Given the description of an element on the screen output the (x, y) to click on. 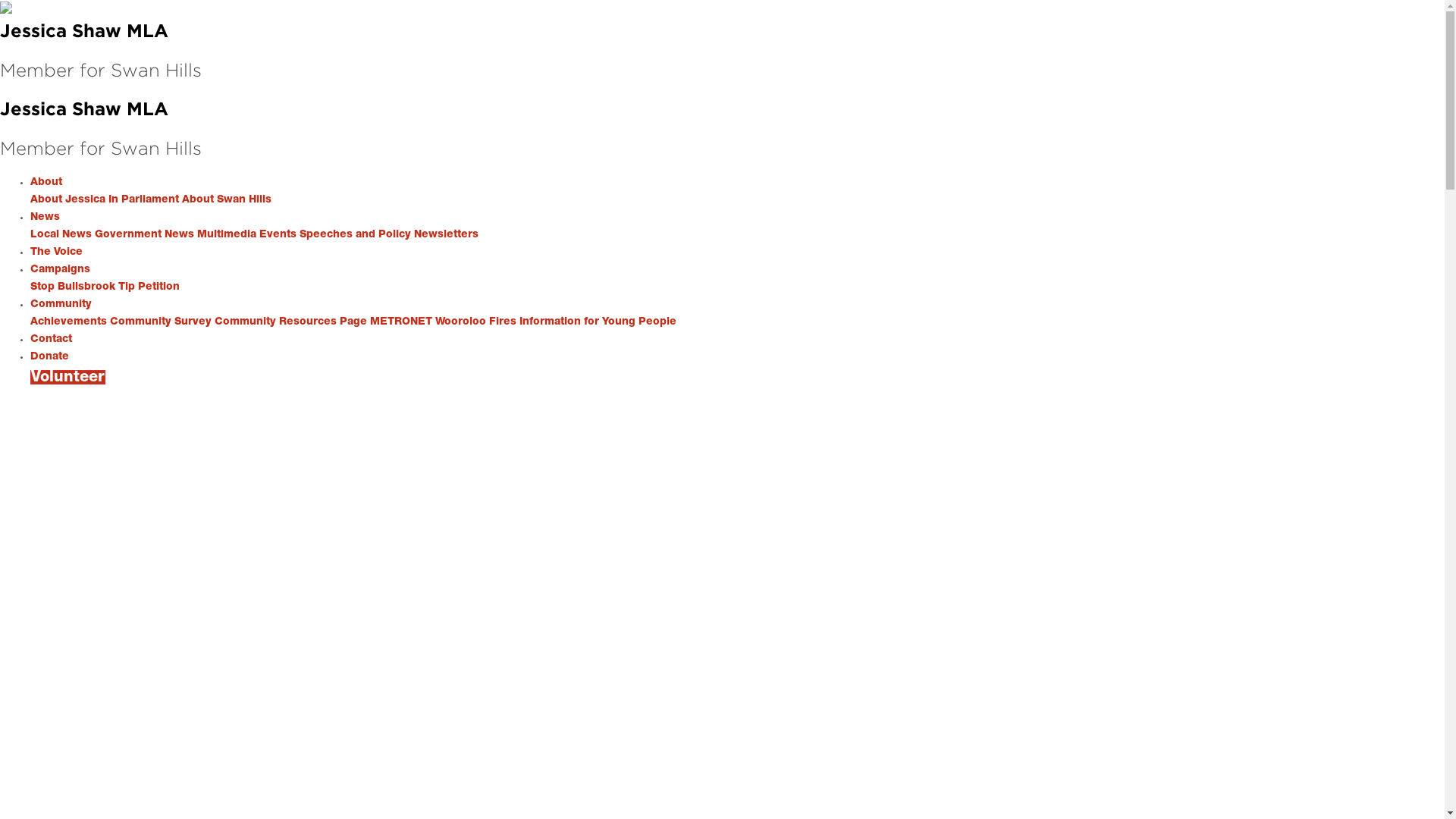
Local News Element type: text (60, 233)
Wooroloo Fires Element type: text (475, 321)
In Parliament Element type: text (143, 198)
Information for Young People Element type: text (597, 321)
About Swan Hills Element type: text (226, 198)
Stop Bullsbrook Tip Petition Element type: text (104, 286)
Contact Element type: text (51, 338)
Volunteer Element type: text (67, 377)
About Element type: text (46, 181)
METRONET Element type: text (401, 321)
News Element type: text (44, 216)
Events Element type: text (277, 233)
Donate Element type: text (49, 355)
Achievements Element type: text (68, 321)
Community Resources Page Element type: text (290, 321)
Newsletters Element type: text (446, 233)
Campaigns Element type: text (60, 268)
Speeches and Policy Element type: text (355, 233)
Government News Element type: text (144, 233)
Community Element type: text (60, 303)
Multimedia Element type: text (226, 233)
Community Survey Element type: text (160, 321)
About Jessica Element type: text (67, 198)
The Voice Element type: text (56, 251)
